Given the description of an element on the screen output the (x, y) to click on. 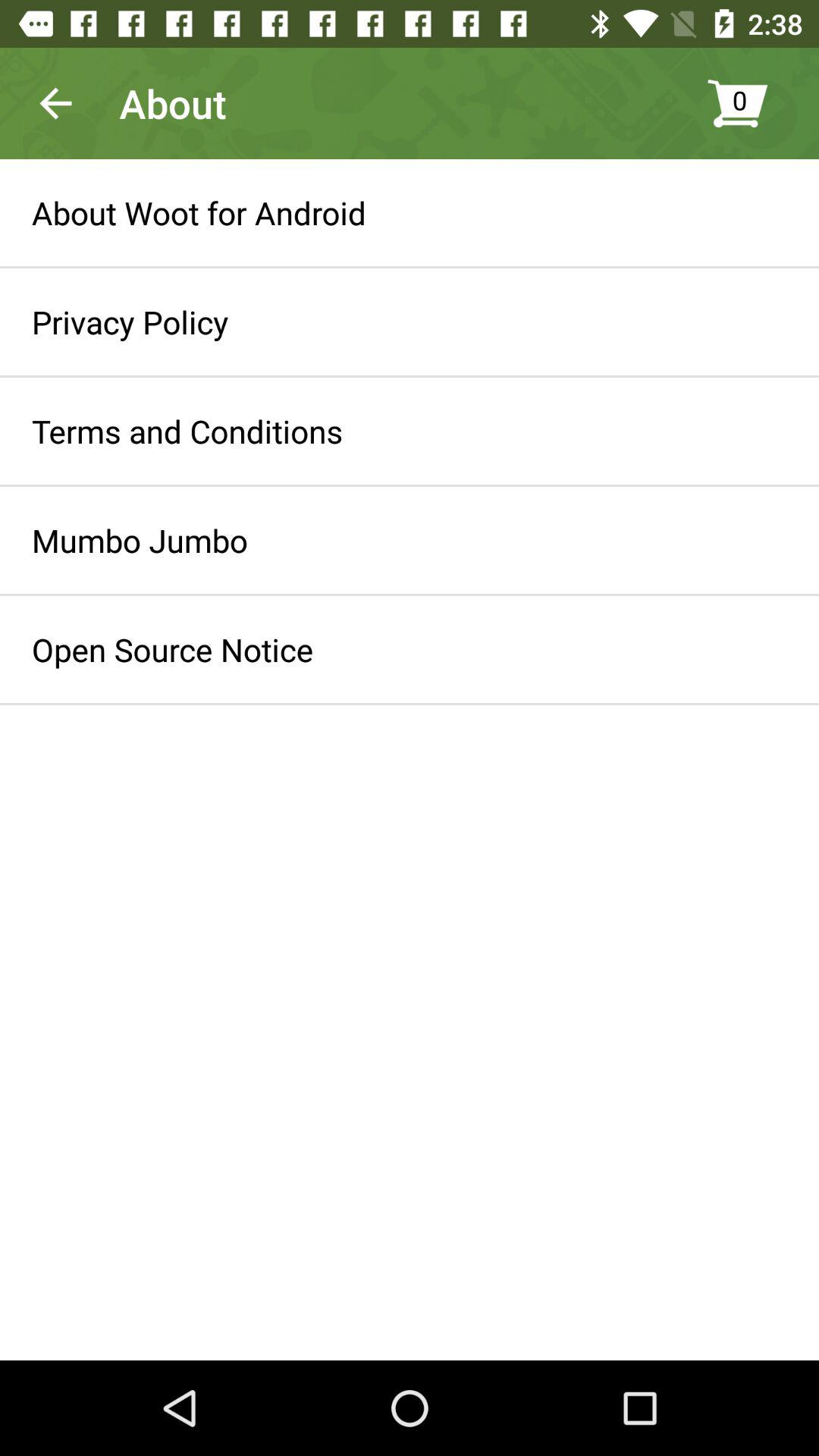
turn on the item to the right of about icon (755, 103)
